Given the description of an element on the screen output the (x, y) to click on. 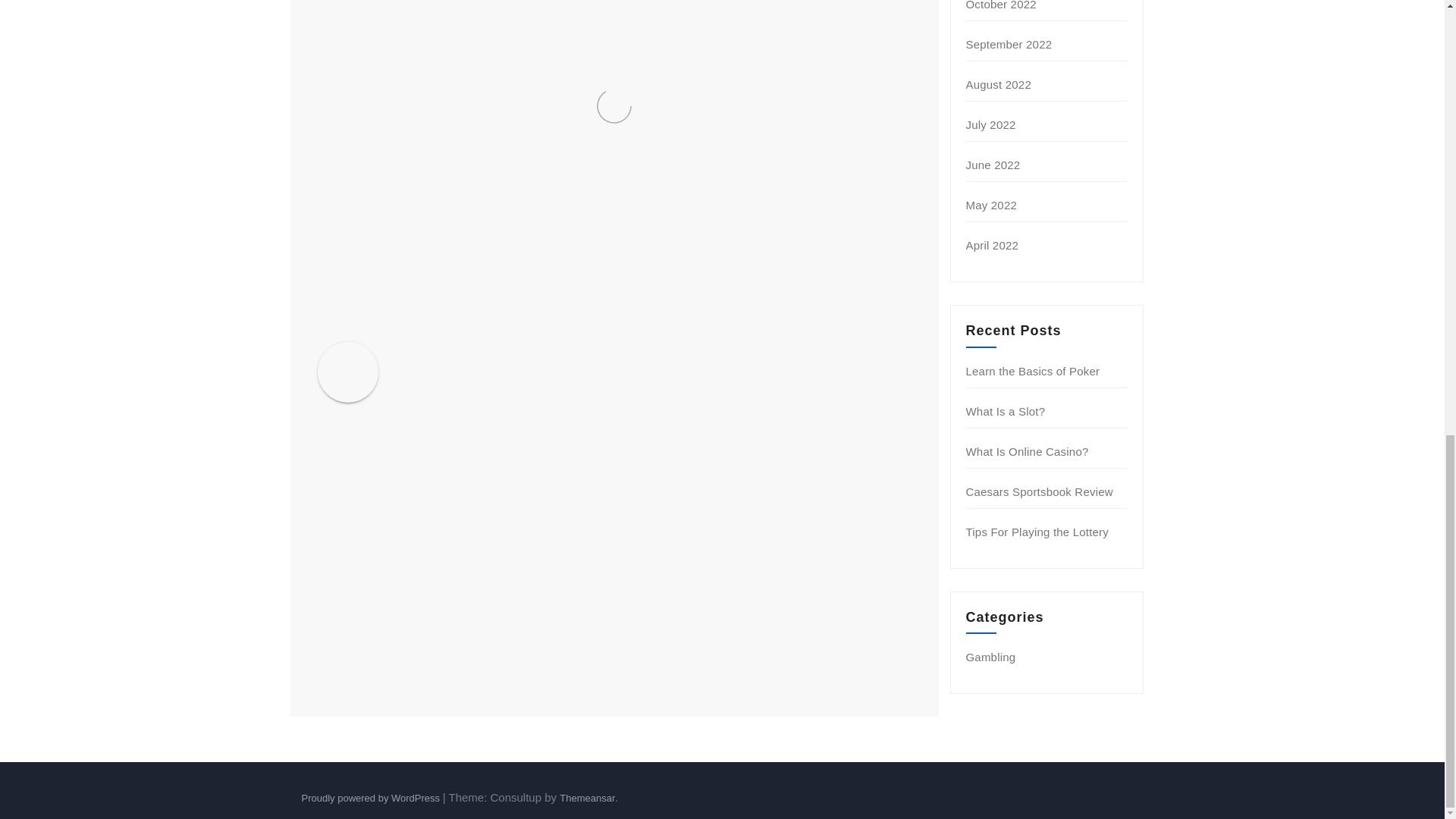
Themeansar (586, 797)
September 2022 (1009, 43)
May 2022 (991, 205)
July 2022 (991, 124)
What Is a Slot? (1005, 410)
April 2022 (992, 245)
Caesars Sportsbook Review (1039, 491)
What Is Online Casino? (1027, 451)
Proudly powered by WordPress (371, 797)
October 2022 (1001, 5)
